Given the description of an element on the screen output the (x, y) to click on. 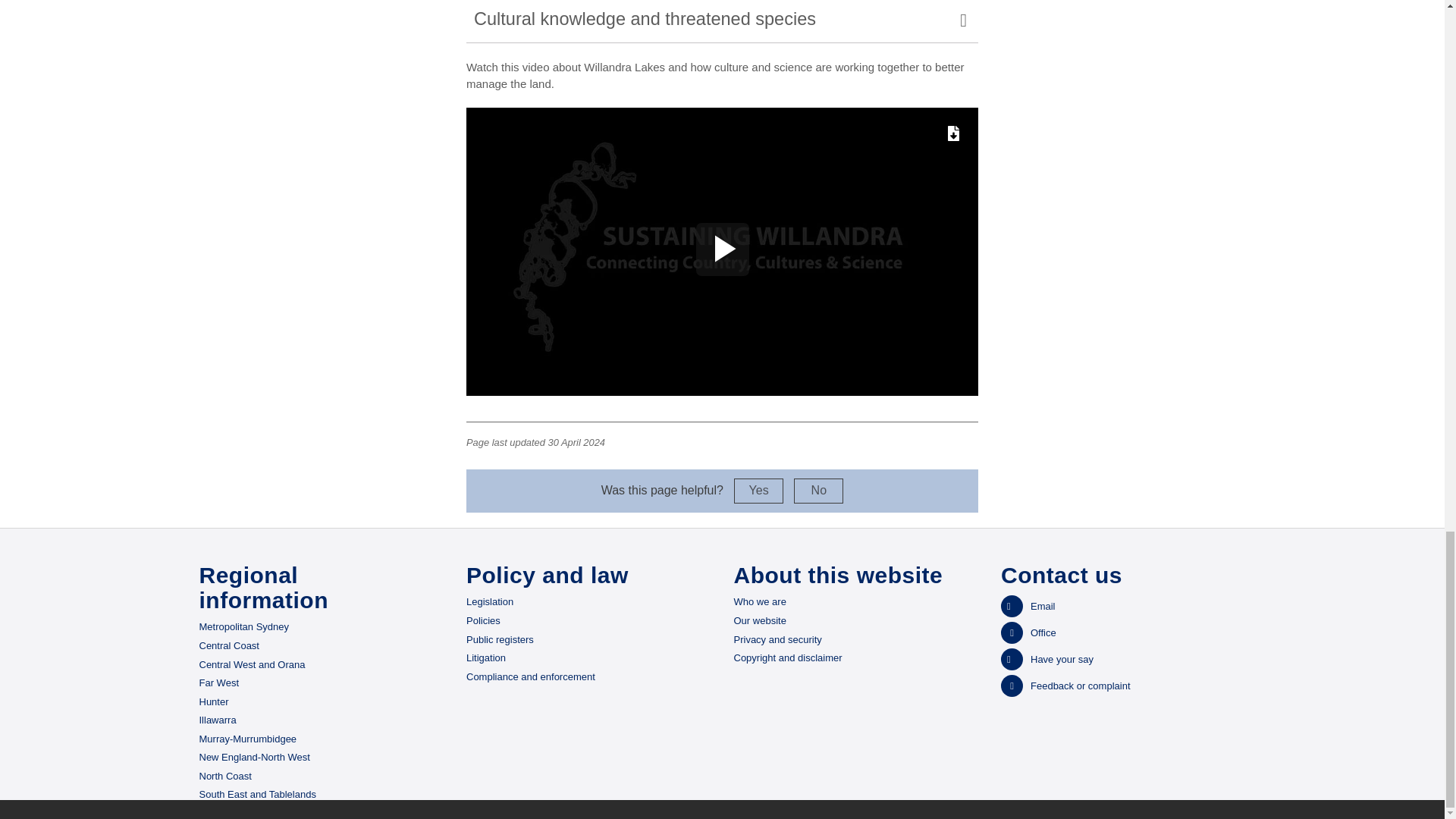
Play Video (722, 249)
Download Transcript (952, 132)
